Given the description of an element on the screen output the (x, y) to click on. 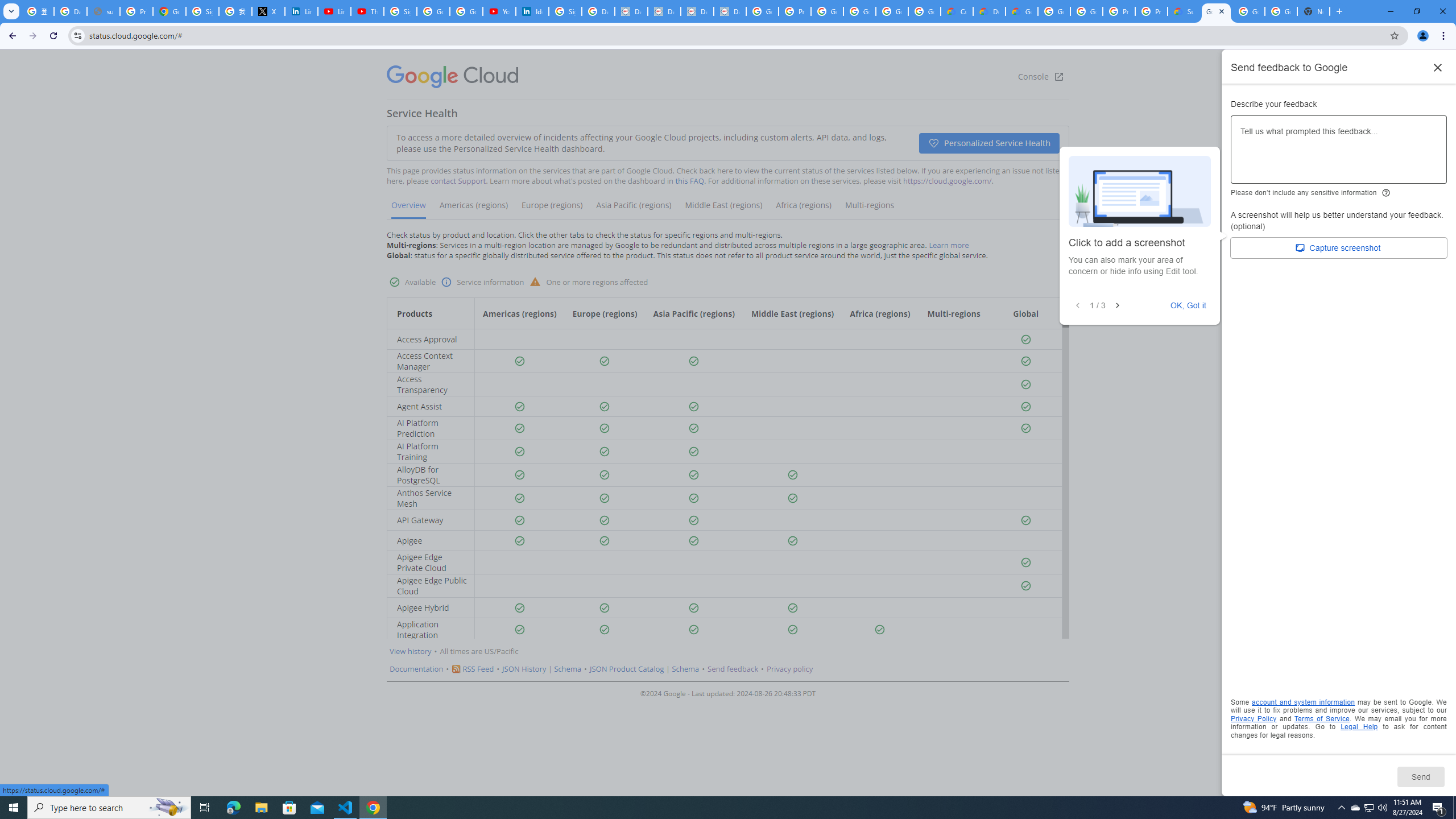
Send (1420, 776)
Gemini for Business and Developers | Google Cloud (1021, 11)
Sign in - Google Accounts (564, 11)
Google Cloud Platform (1053, 11)
Sign in - Google Accounts (400, 11)
Schema (684, 668)
Google Cloud Platform (1248, 11)
Data Privacy Framework (697, 11)
Middle East (regions) (723, 209)
support.google.com - Network error (103, 11)
